Given the description of an element on the screen output the (x, y) to click on. 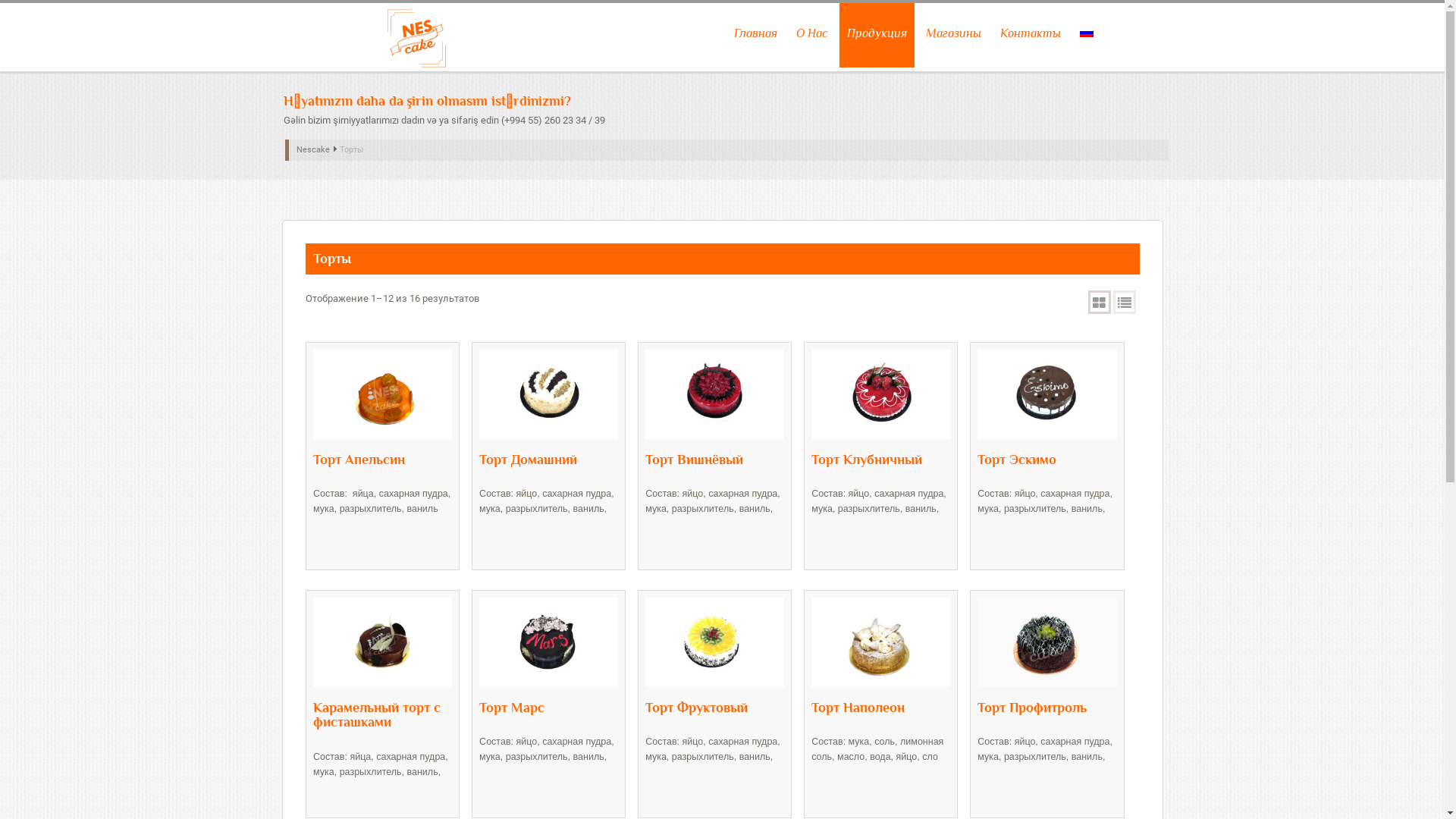
Grid view Element type: hover (1098, 301)
List view Element type: hover (1124, 301)
Nescake Element type: text (312, 149)
